Given the description of an element on the screen output the (x, y) to click on. 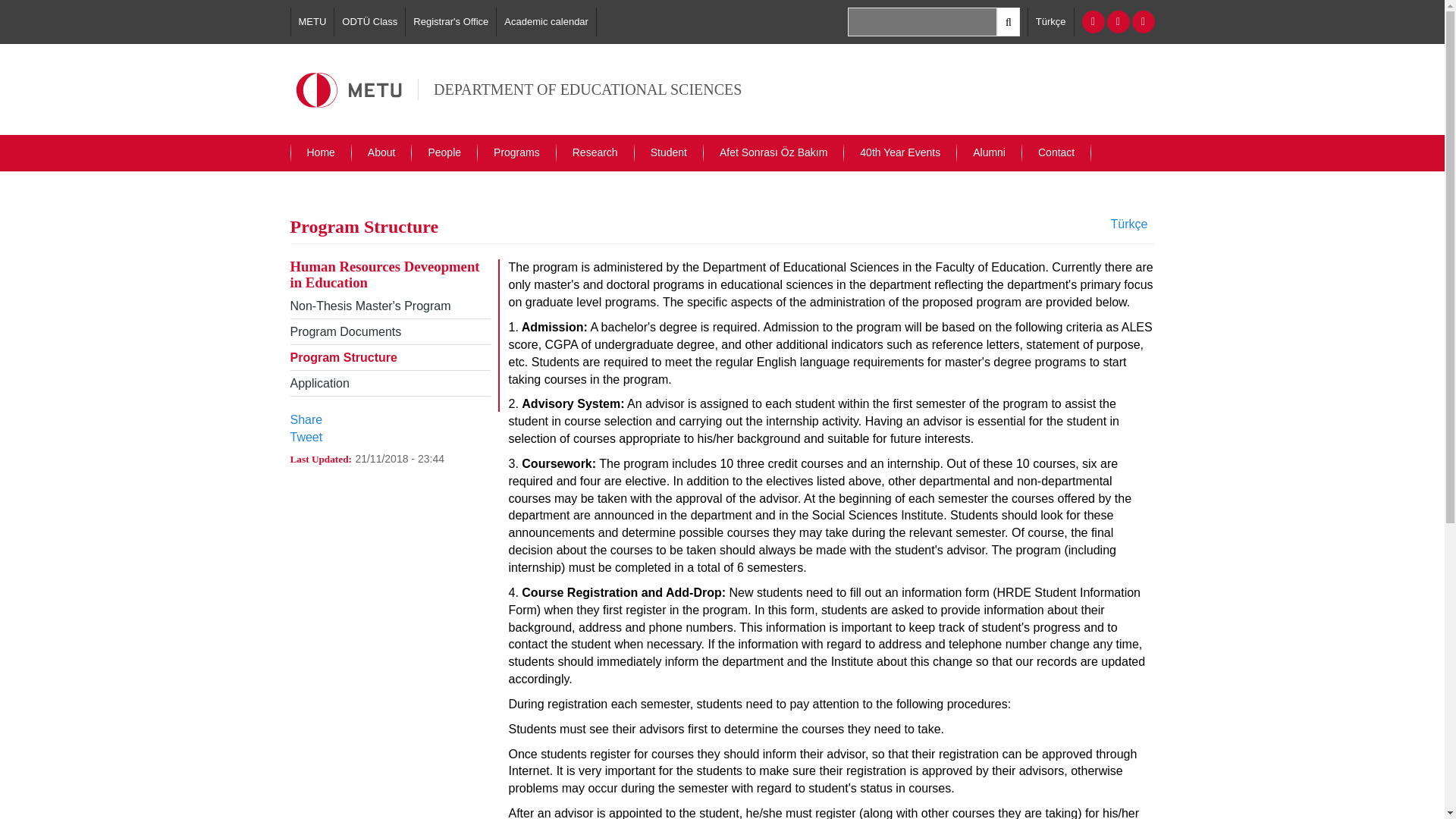
Home (320, 153)
Registrar's Office (451, 21)
Academic calendar (546, 21)
About (382, 153)
DEPARTMENT OF EDUCATIONAL SCIENCES (587, 89)
People (444, 153)
Programs (516, 153)
METU (311, 21)
